Given the description of an element on the screen output the (x, y) to click on. 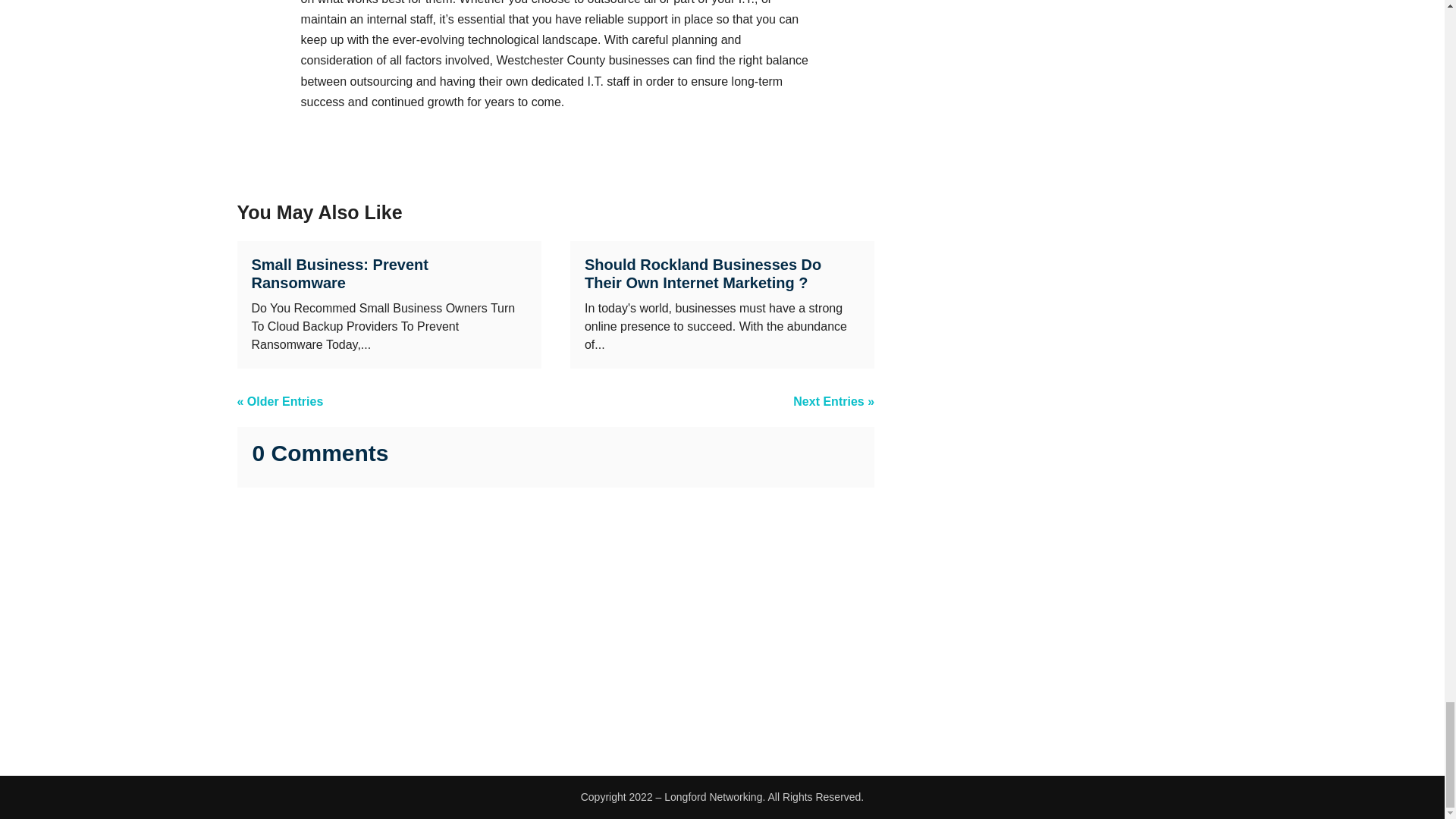
Search (1177, 706)
Should Rockland Businesses Do Their Own Internet Marketing ? (703, 273)
Small Business: Prevent Ransomware (339, 273)
